Given the description of an element on the screen output the (x, y) to click on. 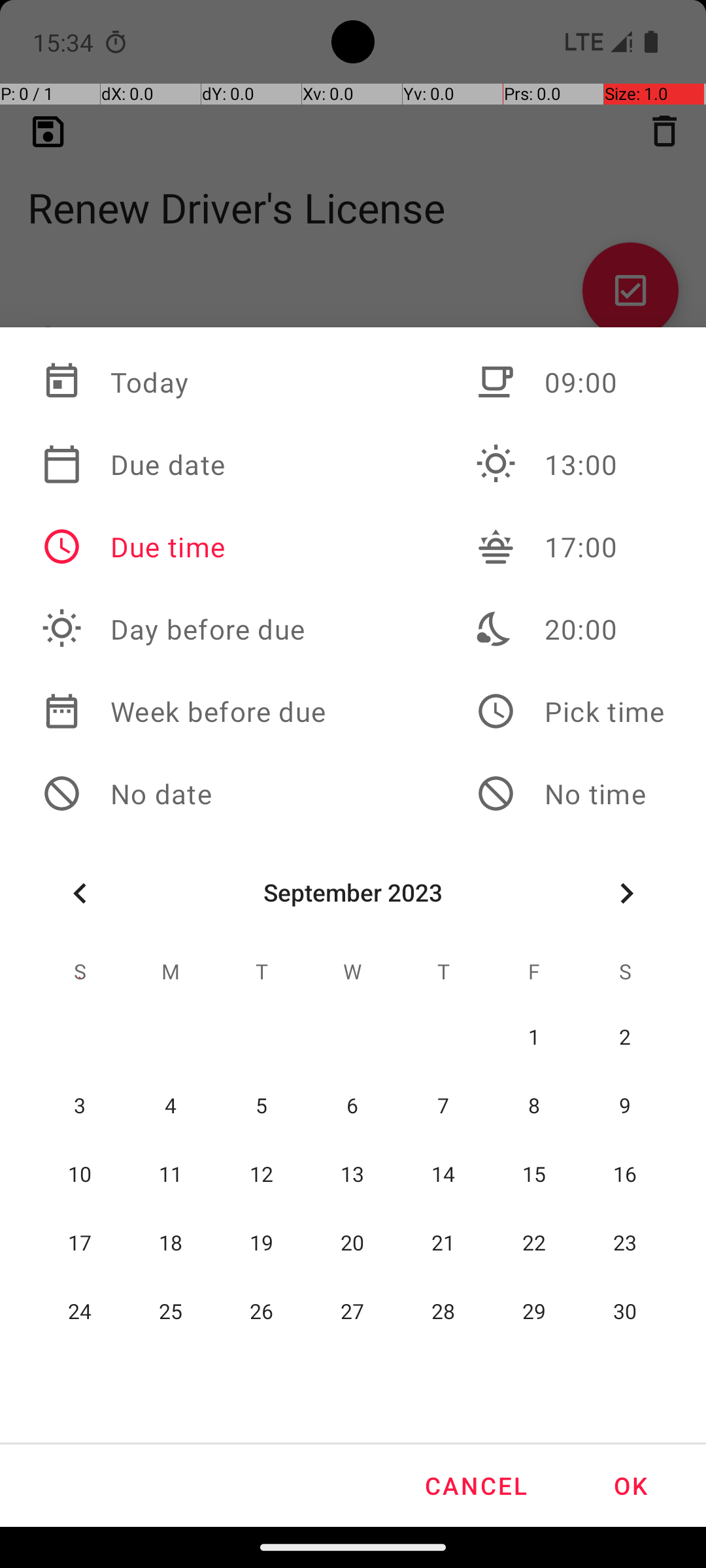
Due date Element type: android.widget.CompoundButton (183, 464)
Due time Element type: android.widget.CompoundButton (183, 546)
Day before due Element type: android.widget.CompoundButton (183, 629)
Week before due Element type: android.widget.CompoundButton (183, 711)
